Given the description of an element on the screen output the (x, y) to click on. 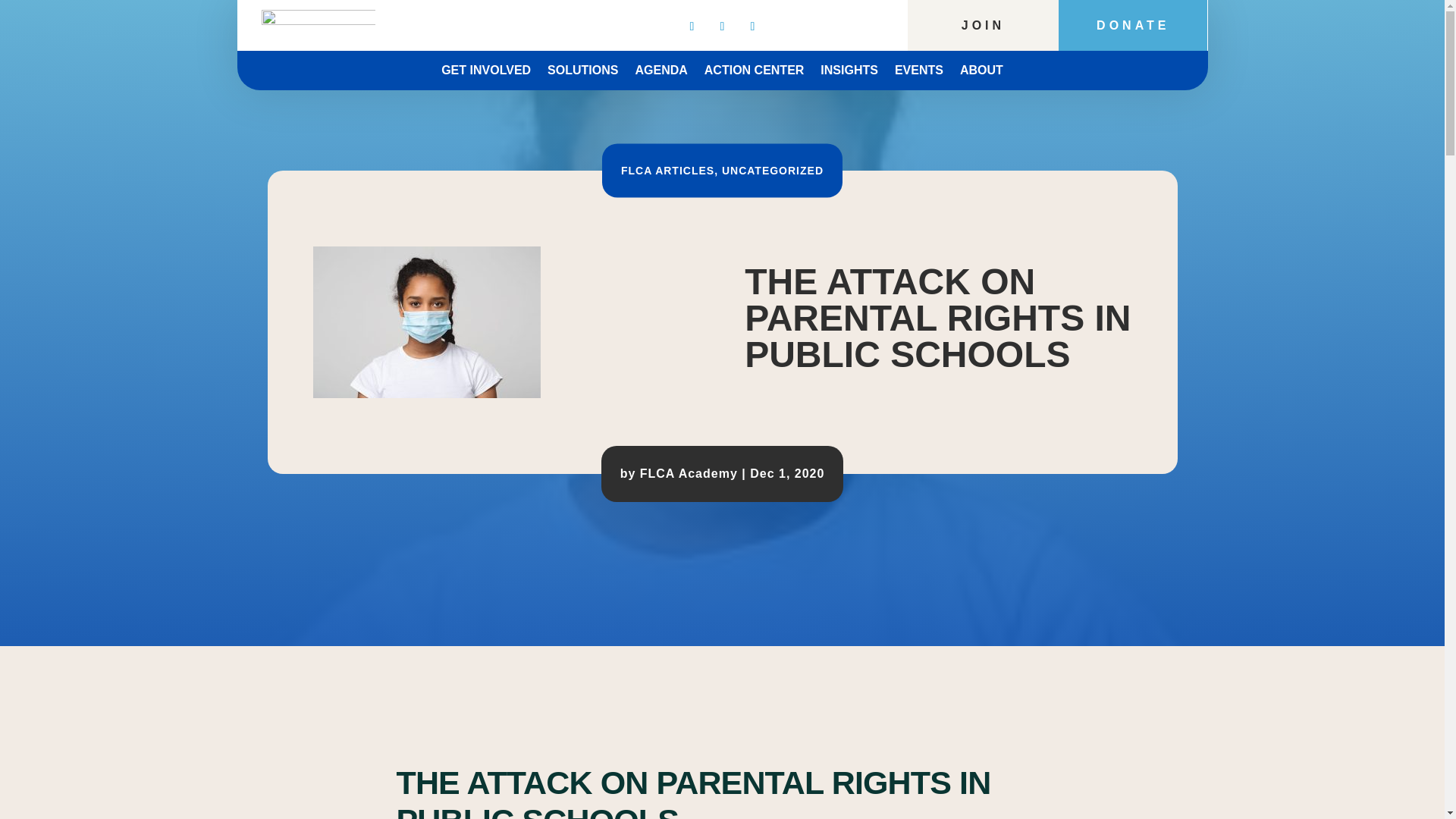
UNCATEGORIZED (773, 169)
AGENDA (660, 73)
Follow on Facebook (691, 26)
SOLUTIONS (582, 73)
Posts by FLCA Academy (689, 472)
DONATE (1132, 25)
ABOUT (981, 73)
GET INVOLVED (486, 73)
Follow on Instagram (751, 26)
ngo-illustration-Artboard 5 (426, 322)
ACTION CENTER (754, 73)
JOIN (982, 25)
Follow on X (721, 26)
INSIGHTS (849, 73)
FLCA ARTICLES (667, 169)
